Given the description of an element on the screen output the (x, y) to click on. 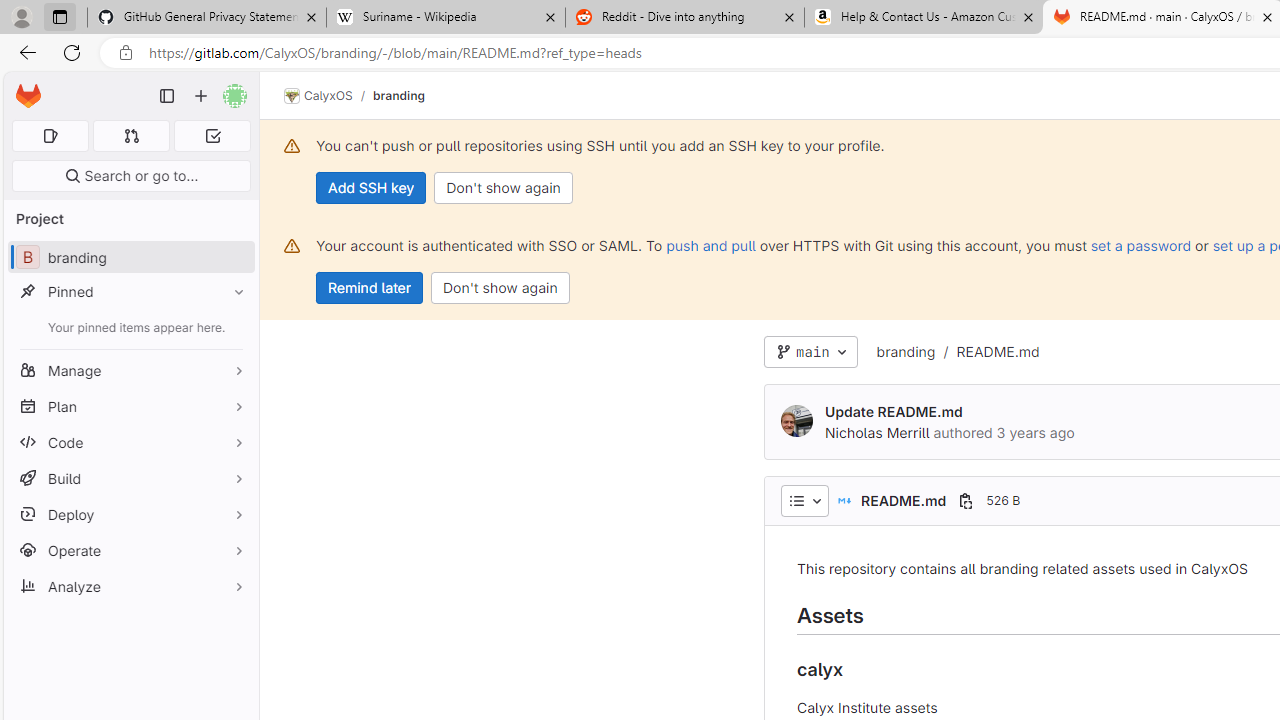
Class: s16 gl-alert-icon gl-alert-icon-no-title (291, 246)
Code (130, 442)
Plan (130, 406)
main (810, 351)
Nicholas Merrill's avatar (796, 420)
set a password (1140, 245)
Build (130, 478)
Analyze (130, 586)
CalyxOS/ (328, 96)
Pinned (130, 291)
Merge requests 0 (131, 136)
Bbranding (130, 257)
